Given the description of an element on the screen output the (x, y) to click on. 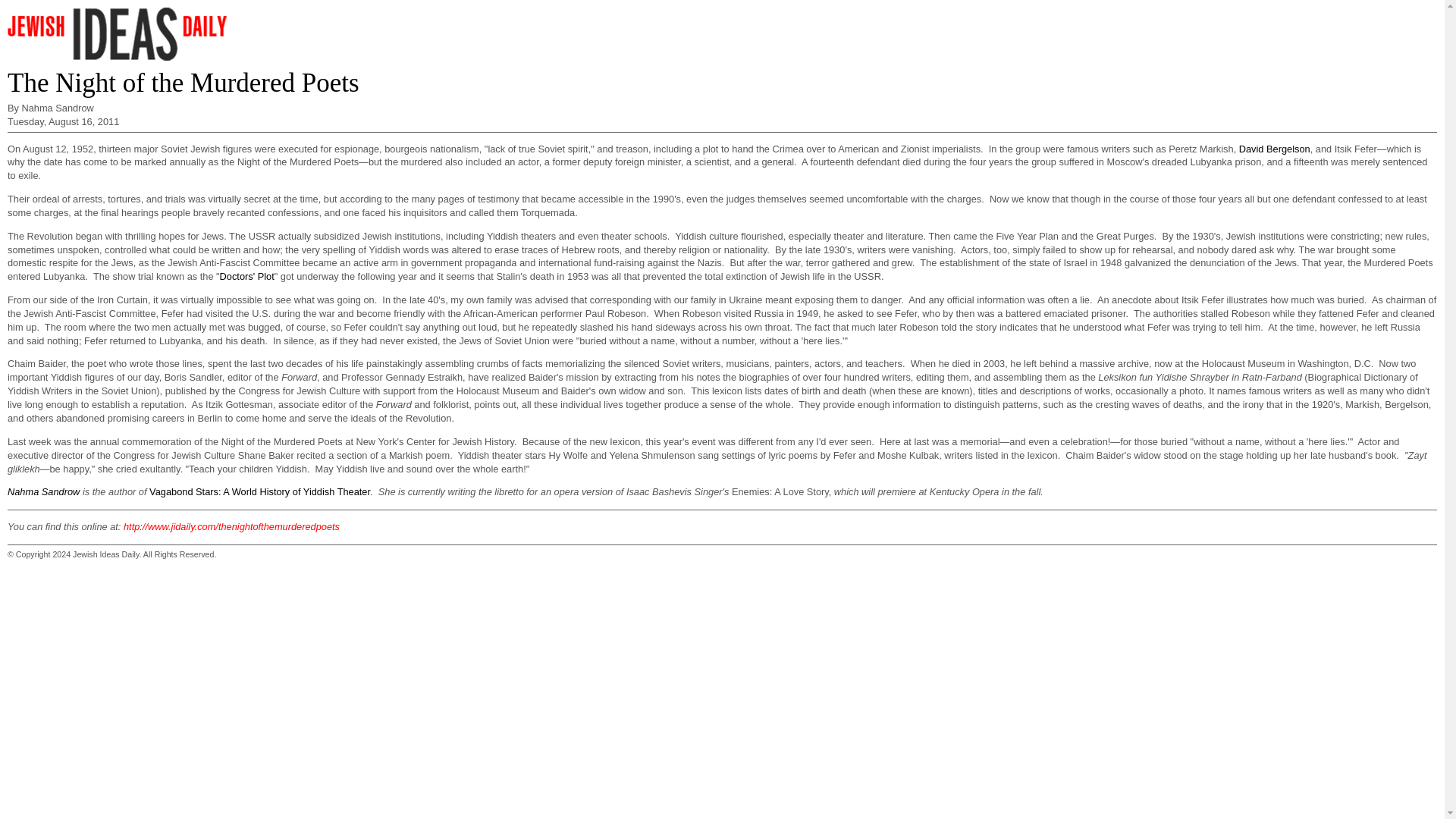
Nahma Sandrow (43, 491)
Doctors' Plot (247, 276)
Vagabond Stars: A World History of Yiddish Theater (259, 491)
David Bergelson (1274, 148)
